Given the description of an element on the screen output the (x, y) to click on. 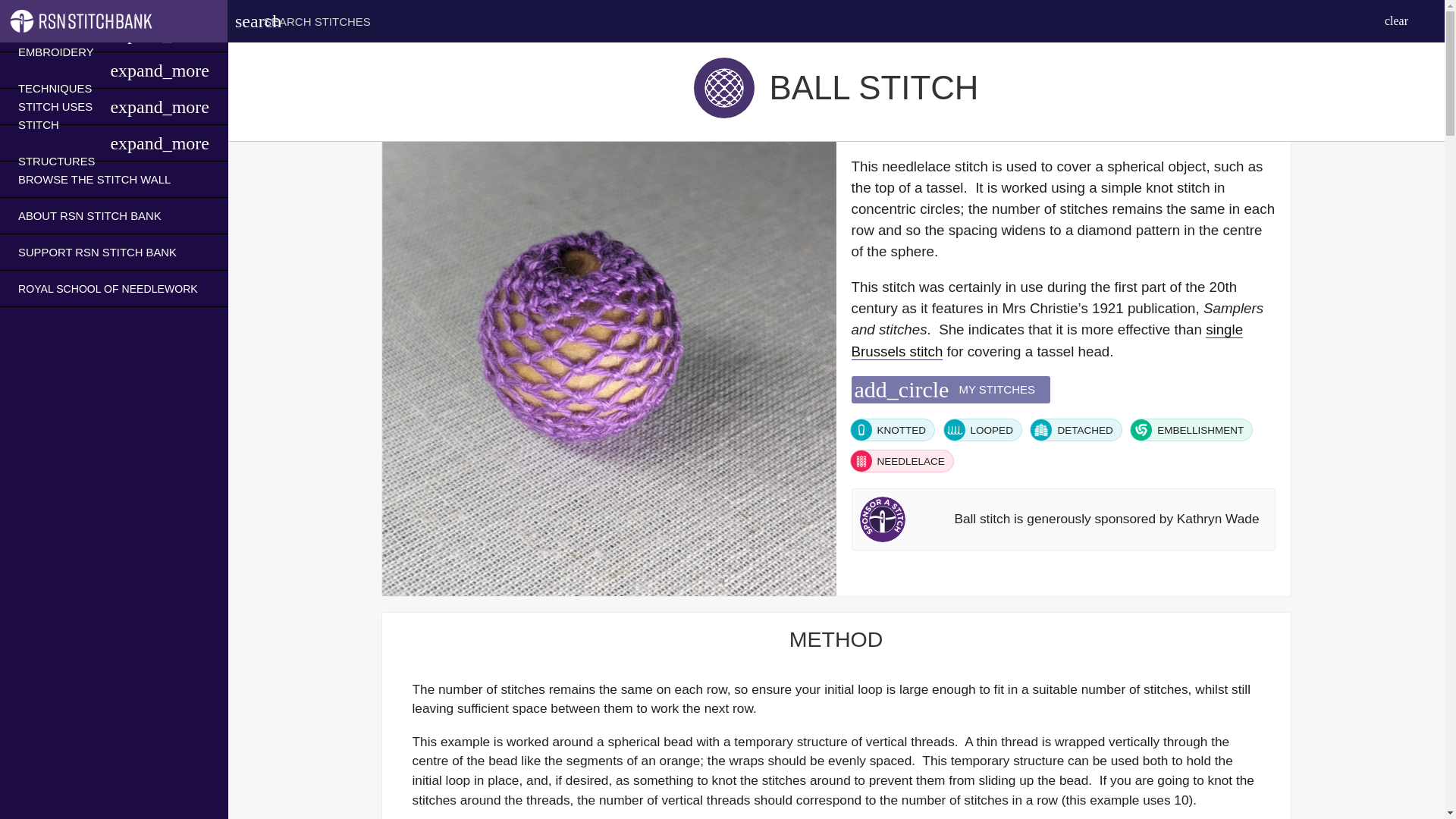
LOOPED (982, 429)
DETACHED (1075, 429)
EMBROIDERY TECHNIQUES (63, 70)
EMBELLISHMENT (1190, 429)
NEEDLELACE (900, 460)
STITCH STRUCTURES (63, 143)
SUPPORT RSN STITCH BANK (96, 252)
KNOTTED (891, 429)
Ball stitch (724, 87)
single Brussels stitch (1046, 340)
BROWSE THE STITCH WALL (93, 179)
STITCH USES (55, 106)
ABOUT RSN STITCH BANK (89, 216)
MY STITCHES (55, 33)
